Given the description of an element on the screen output the (x, y) to click on. 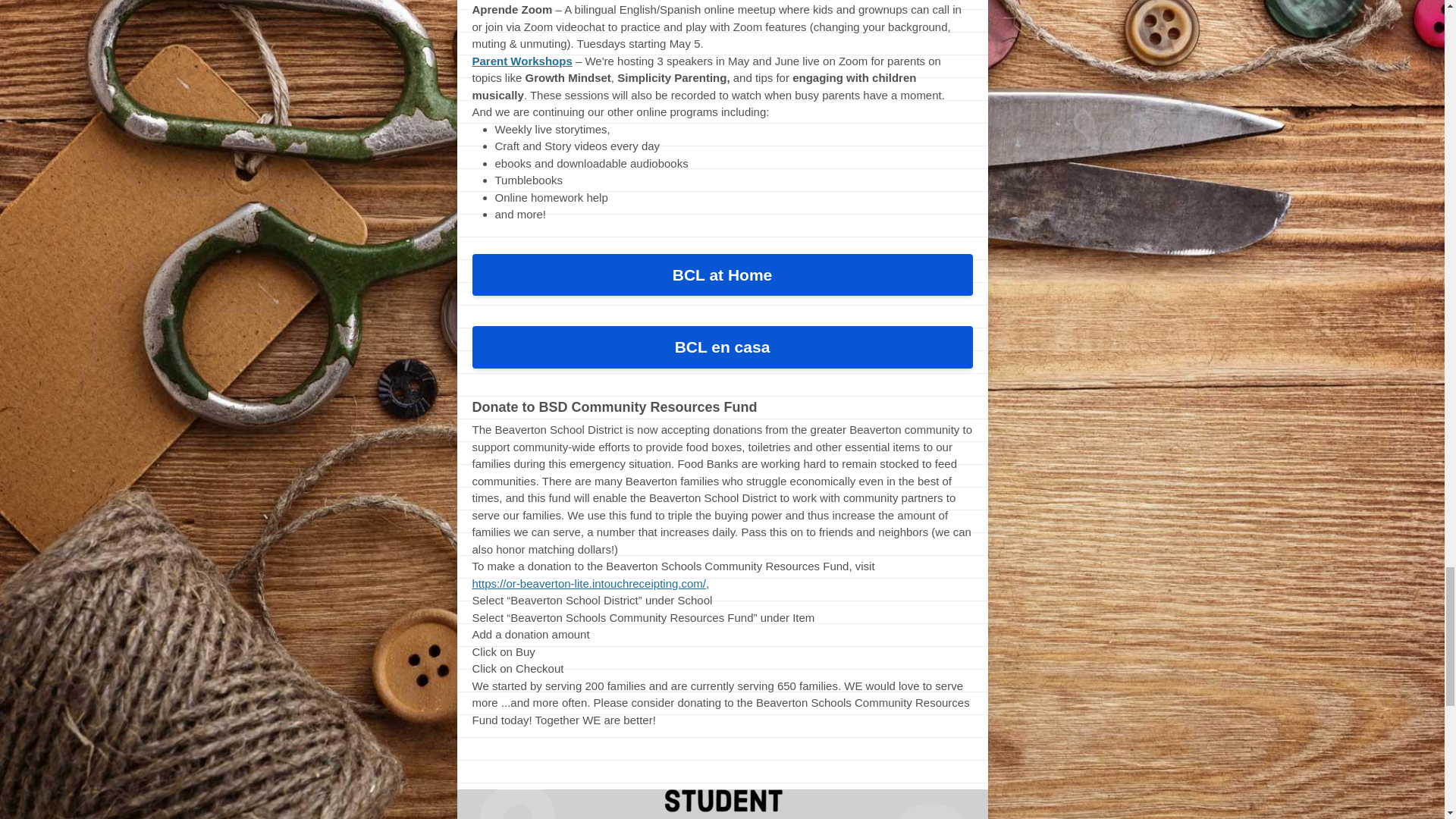
Parent Workshops (521, 60)
BCL en casa (721, 346)
Resources (721, 764)
BCL at Home (721, 274)
